Given the description of an element on the screen output the (x, y) to click on. 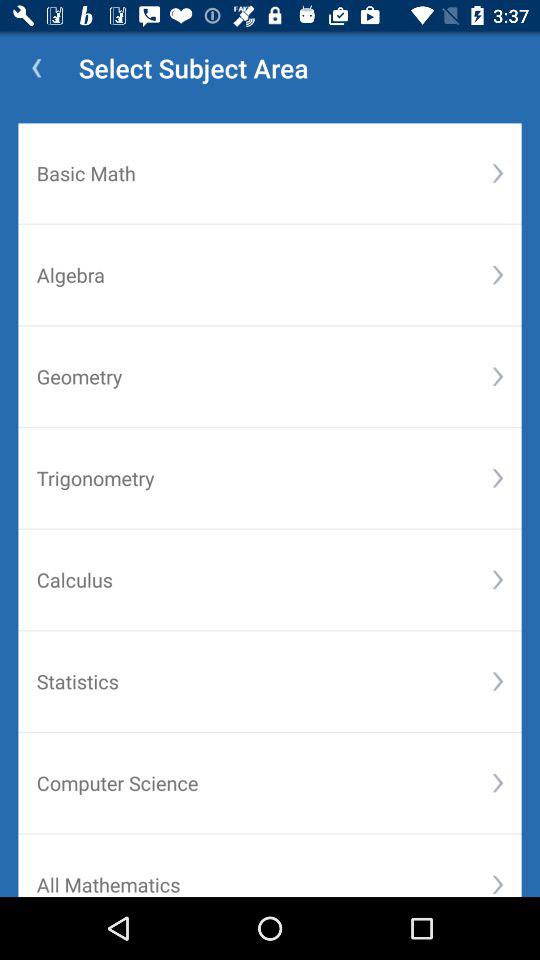
open the item below computer science (497, 884)
